Given the description of an element on the screen output the (x, y) to click on. 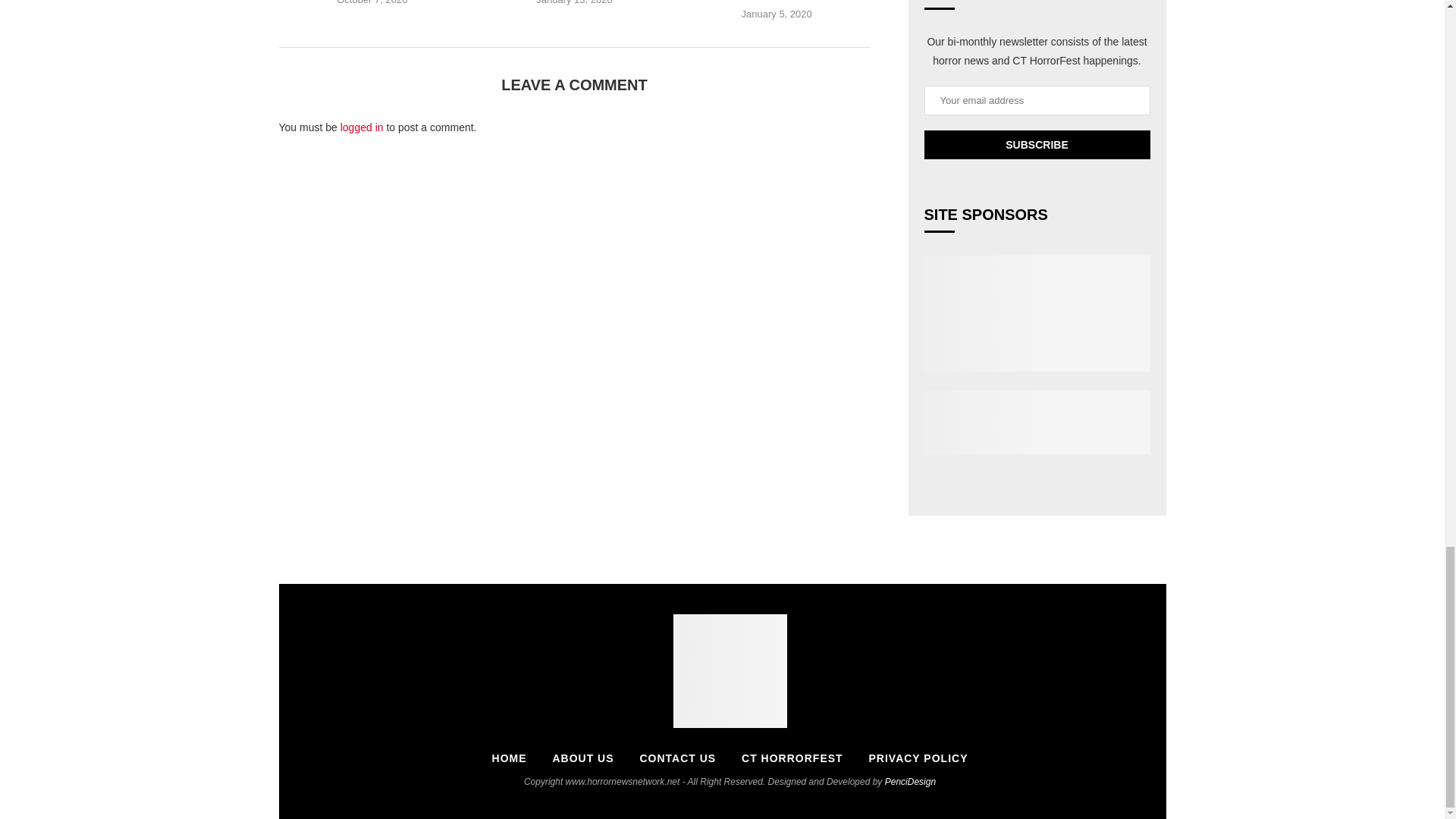
Subscribe (1036, 144)
